Given the description of an element on the screen output the (x, y) to click on. 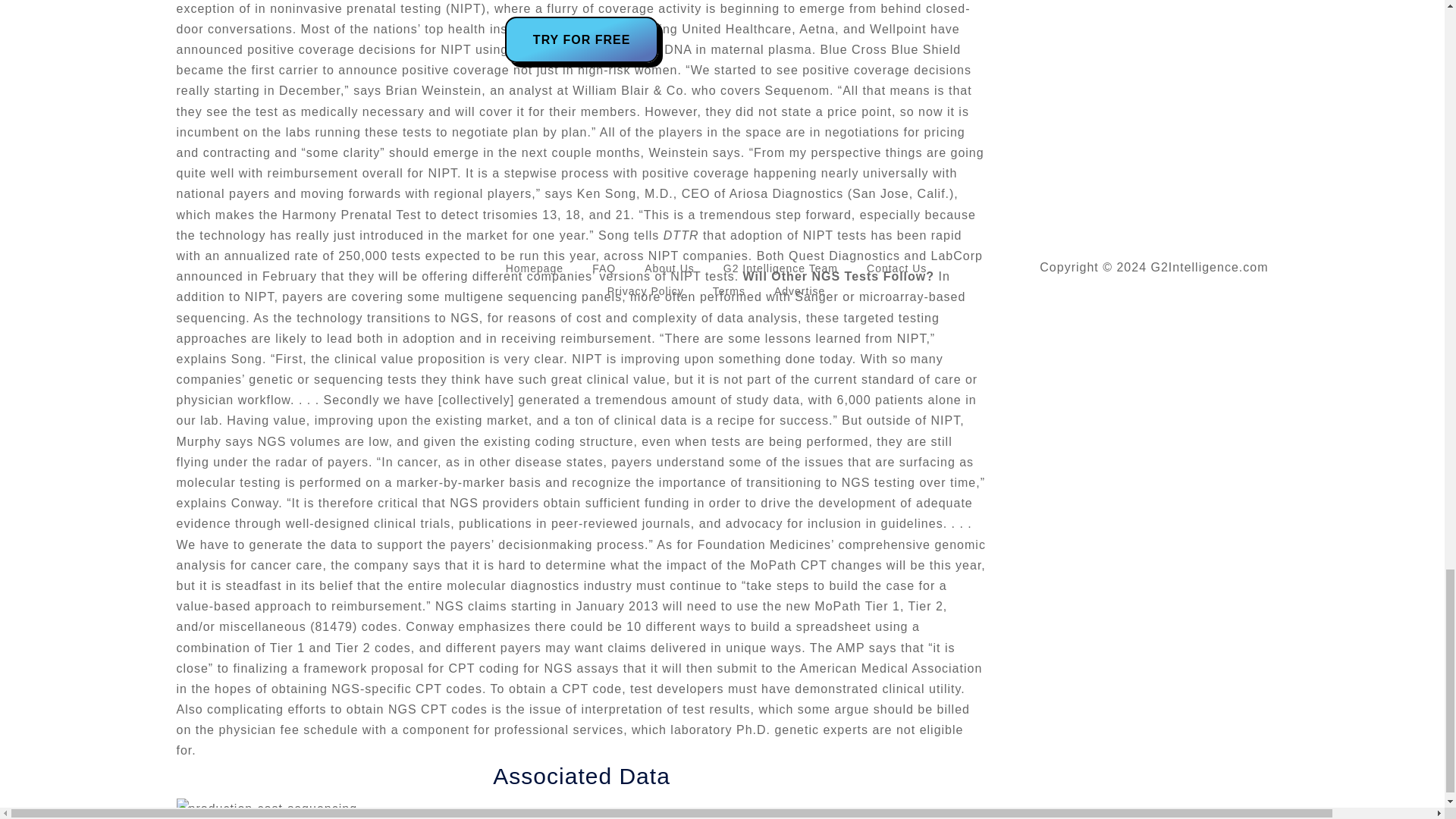
Follow on X (188, 269)
Follow on LinkedIn (218, 269)
